Given the description of an element on the screen output the (x, y) to click on. 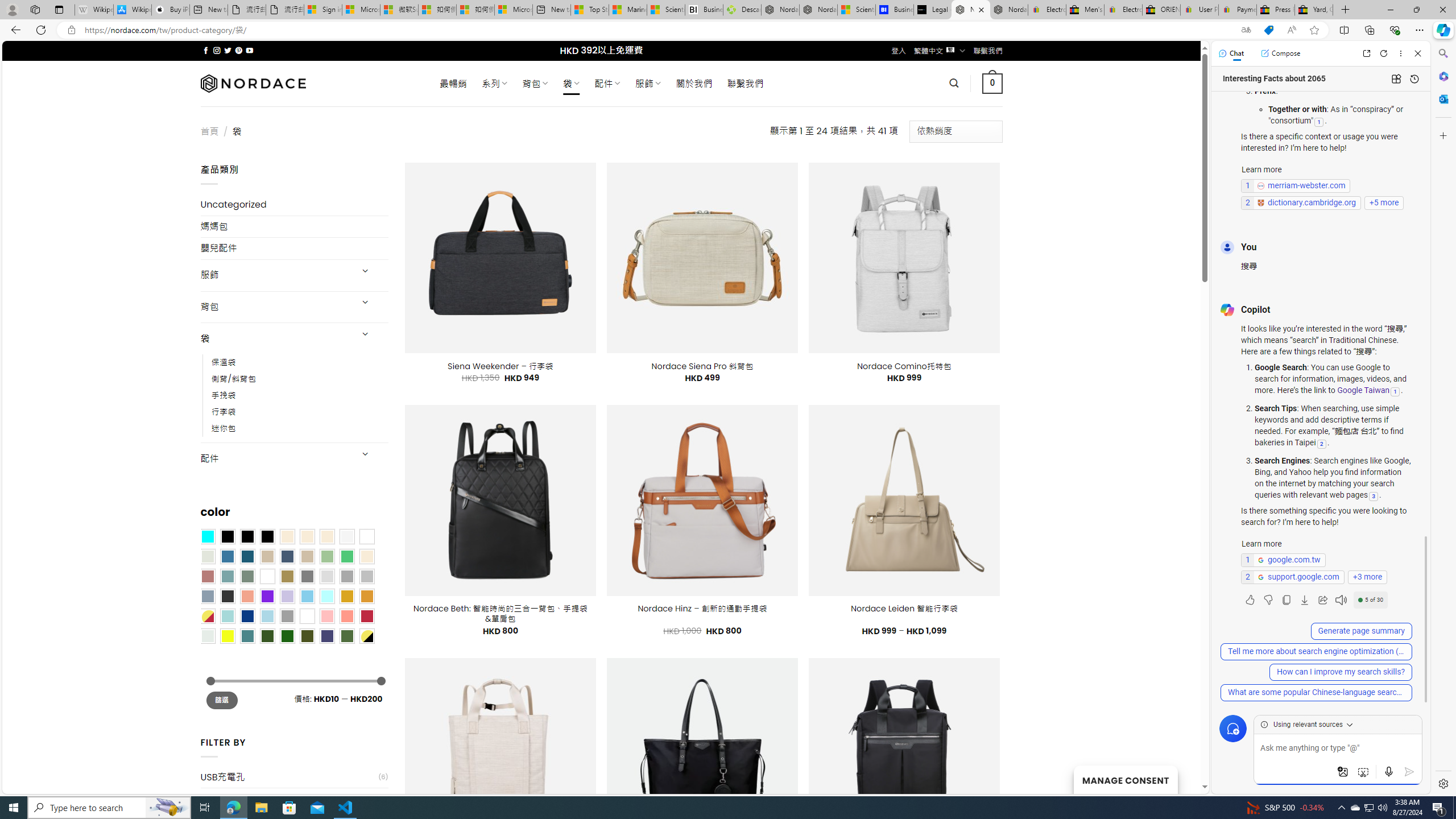
Follow on YouTube (249, 50)
Uncategorized (294, 204)
